Given the description of an element on the screen output the (x, y) to click on. 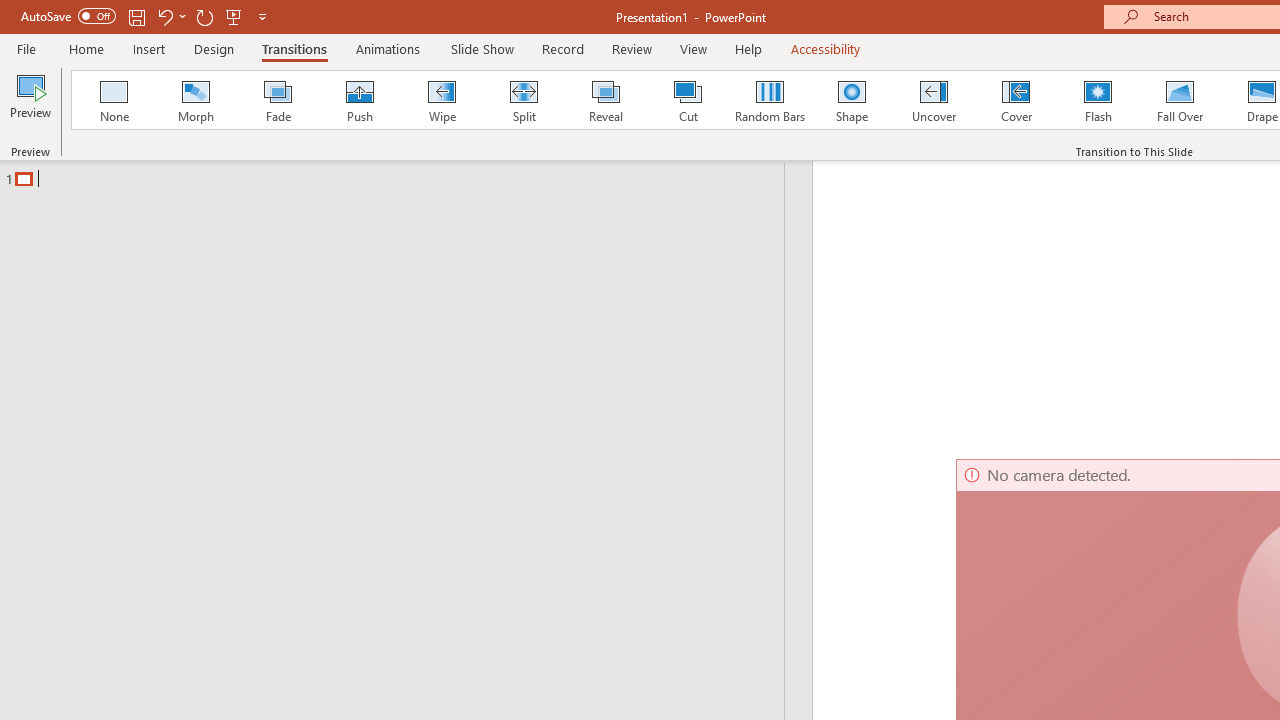
Push (359, 100)
Cover (1016, 100)
